Given the description of an element on the screen output the (x, y) to click on. 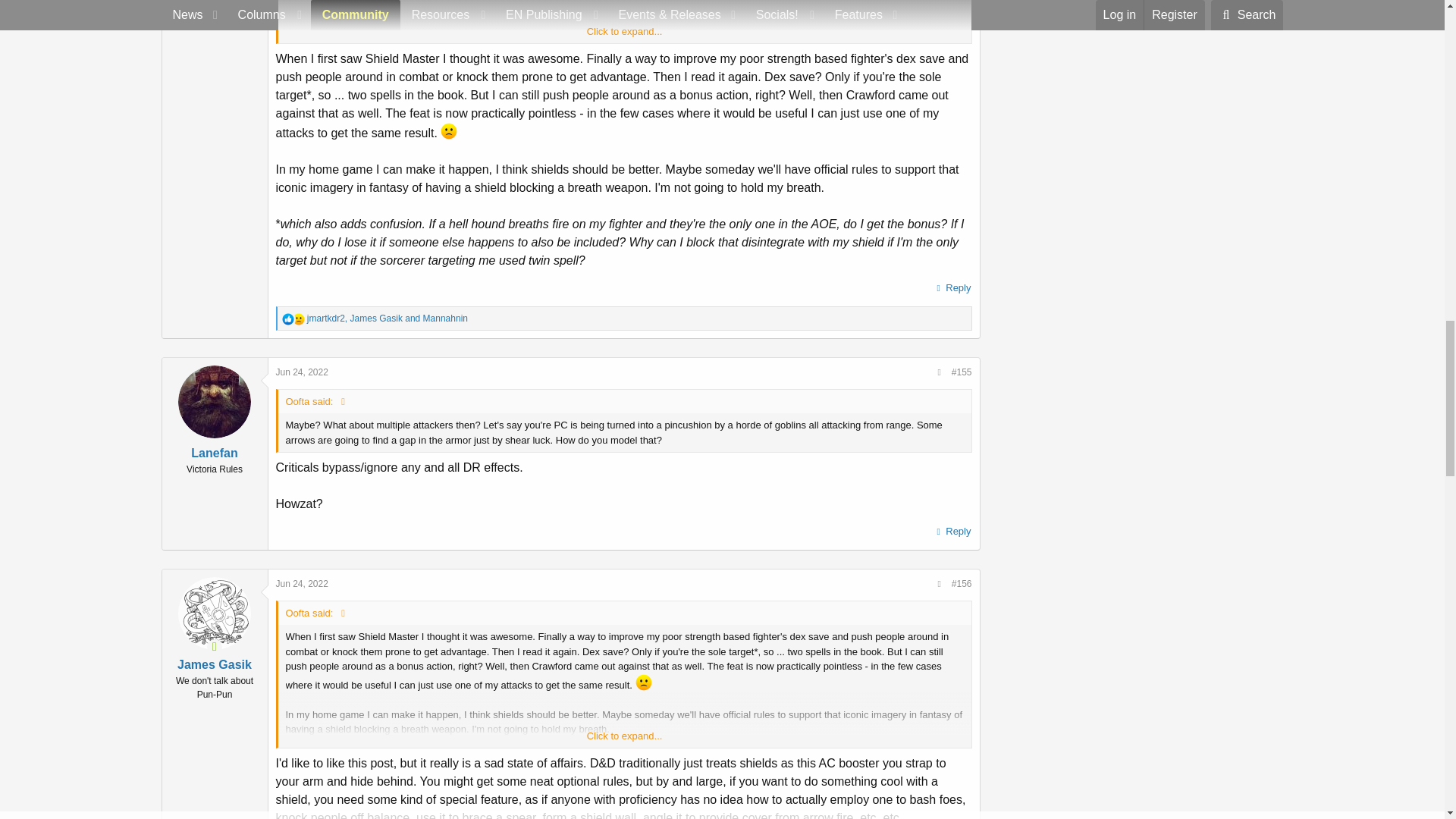
Like (288, 318)
Sad (298, 318)
Reply, quoting this message (952, 287)
